Given the description of an element on the screen output the (x, y) to click on. 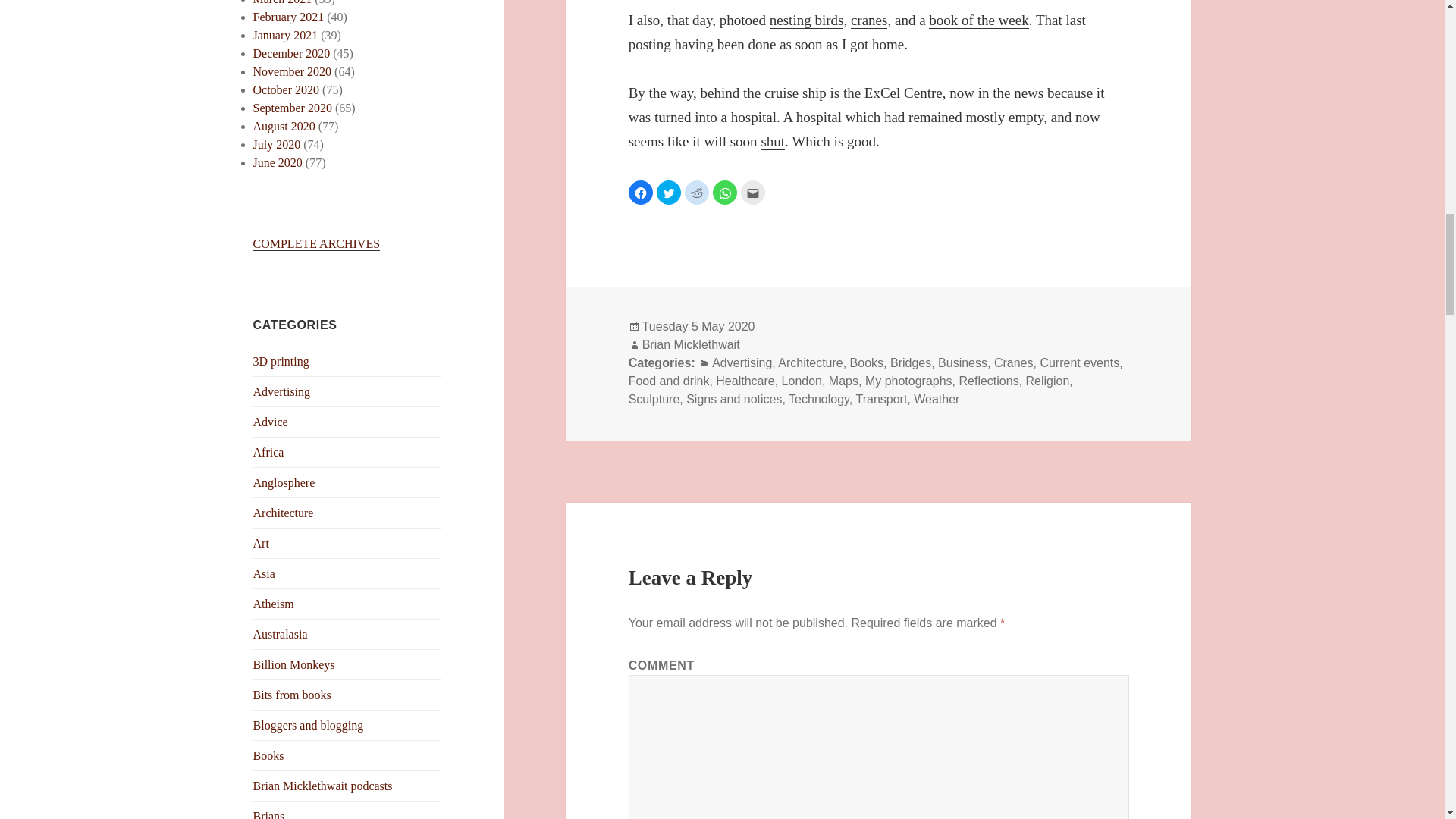
Click to share on Reddit (696, 192)
Click to share on Facebook (640, 192)
Click to share on WhatsApp (724, 192)
Click to share on Twitter (668, 192)
Click to email this to a friend (753, 192)
